Given the description of an element on the screen output the (x, y) to click on. 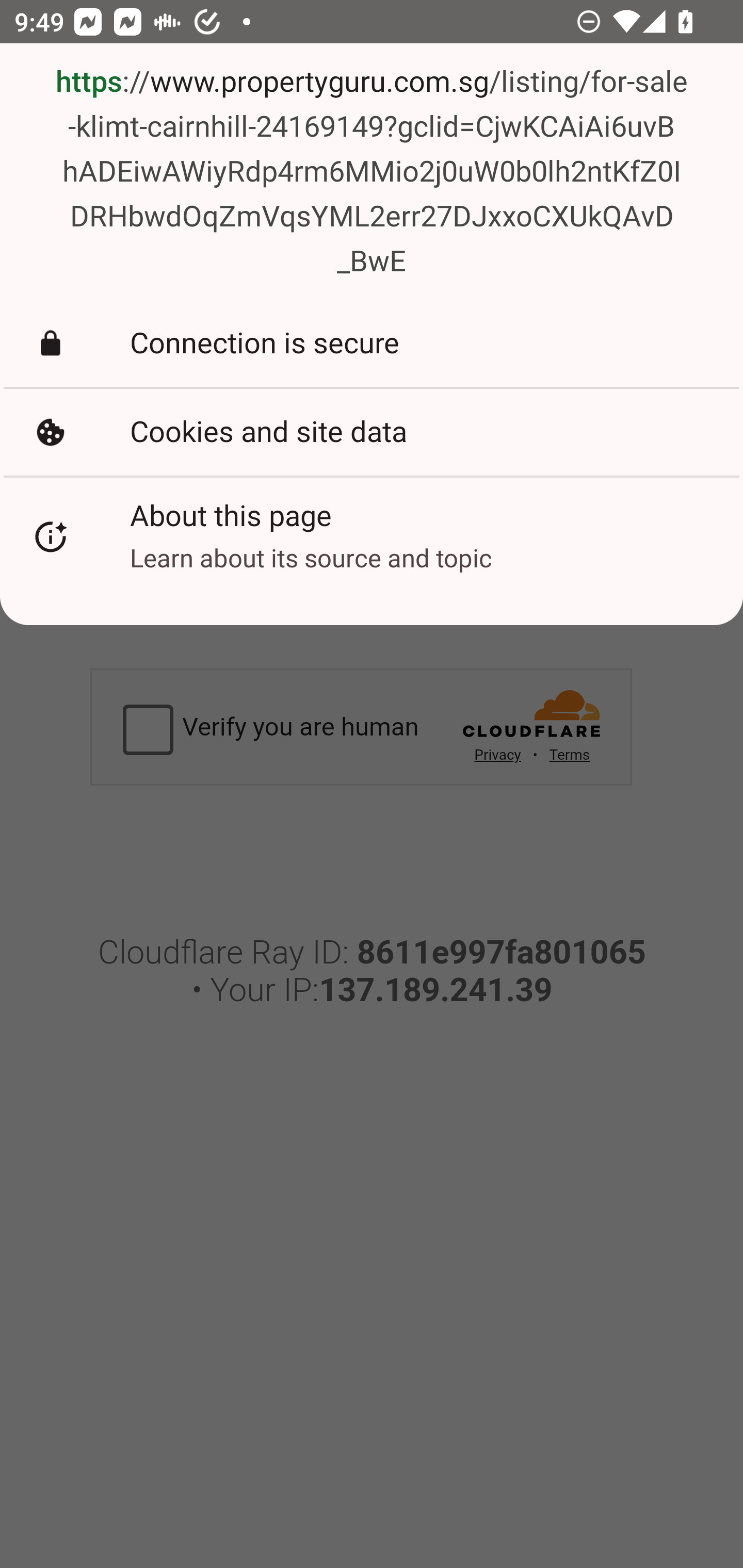
Connection is secure (371, 343)
Cookies and site data (371, 431)
About this page Learn about its source and topic (371, 536)
